Given the description of an element on the screen output the (x, y) to click on. 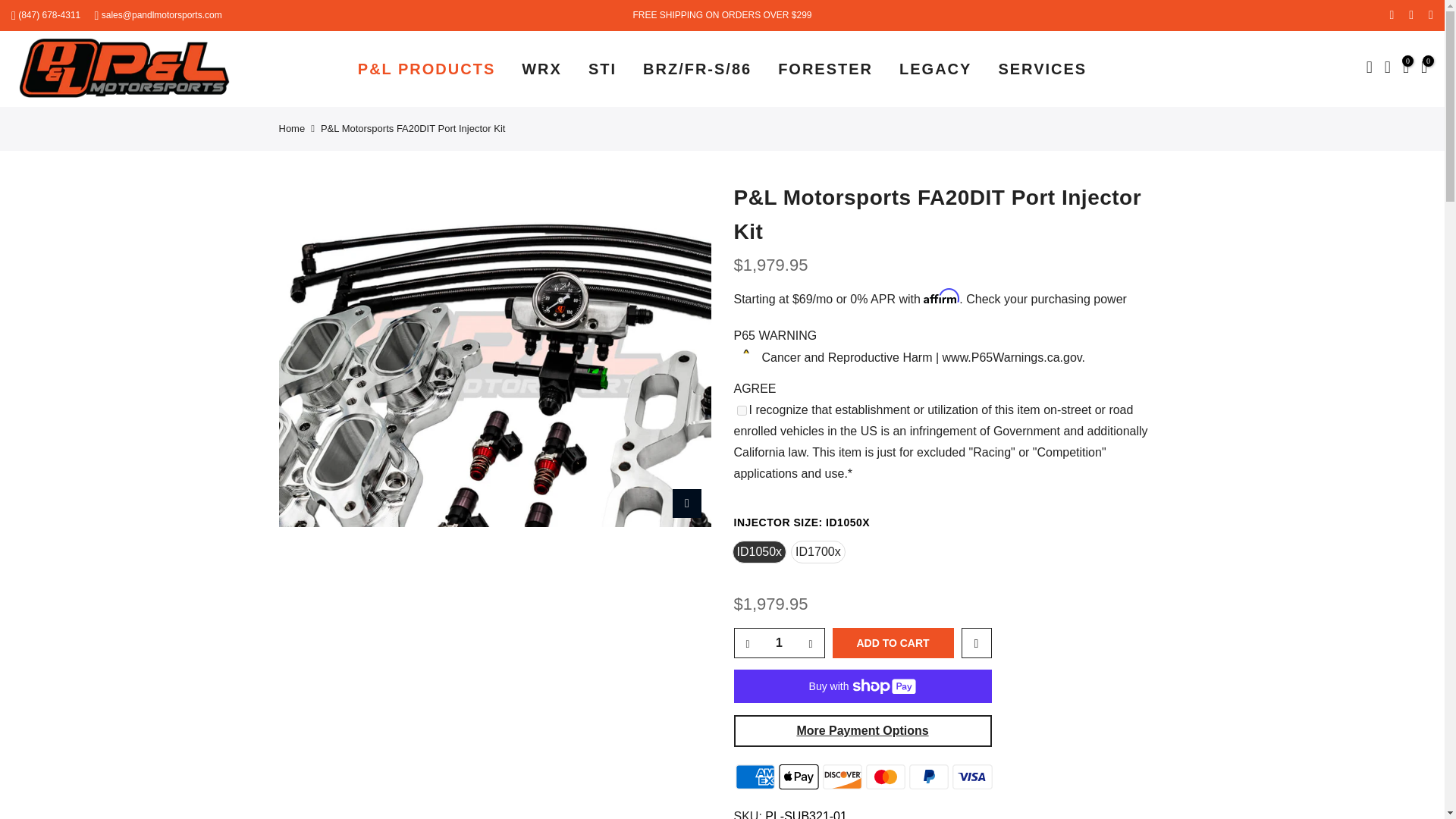
FORESTER (825, 69)
LEGACY (935, 69)
1 (778, 642)
SERVICES (1042, 69)
